Given the description of an element on the screen output the (x, y) to click on. 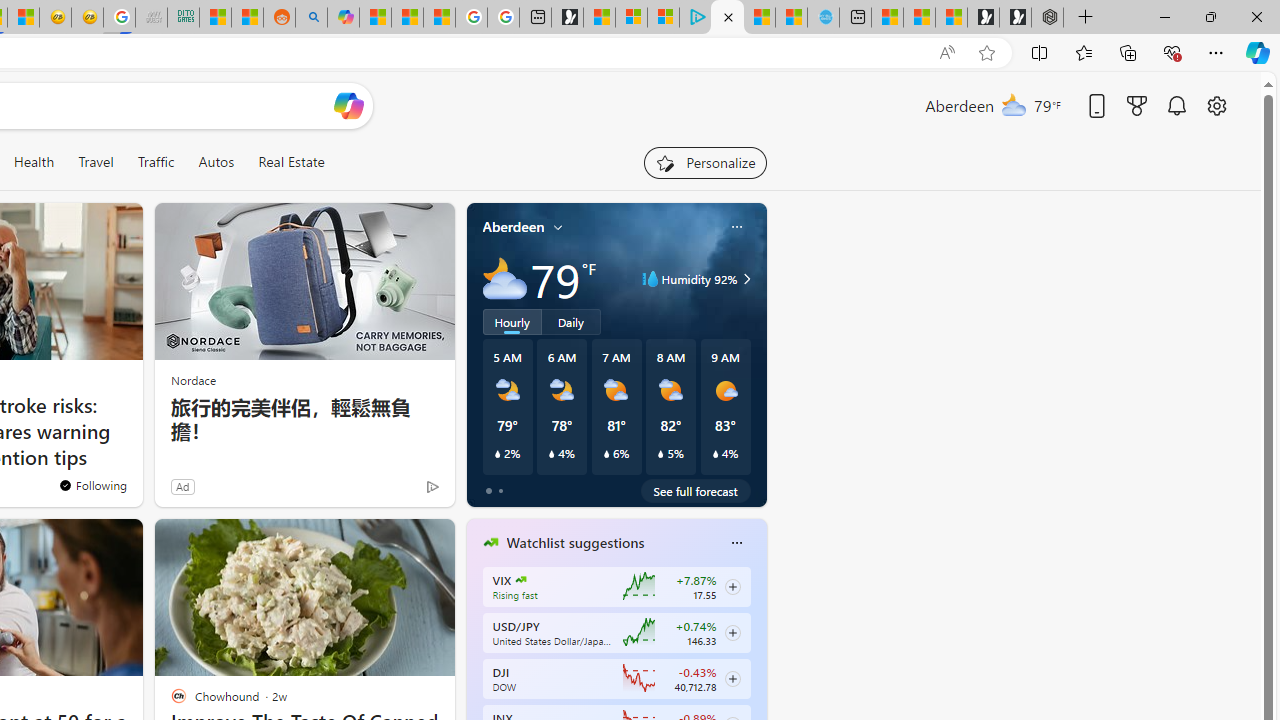
CBOE Market Volatility Index (520, 579)
Class: weather-current-precipitation-glyph (715, 453)
